Given the description of an element on the screen output the (x, y) to click on. 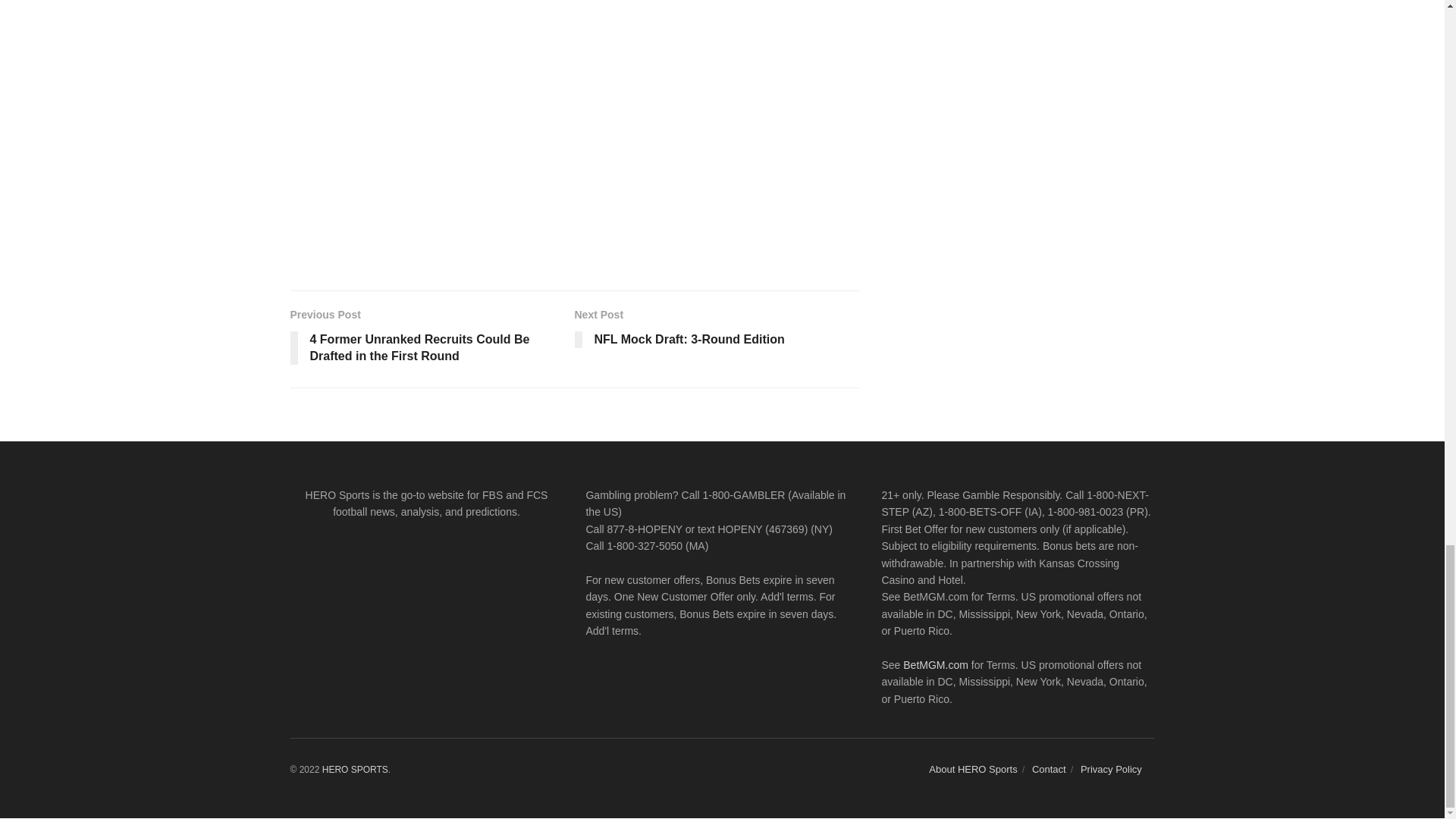
Visit BetMGM today!  (935, 664)
